Given the description of an element on the screen output the (x, y) to click on. 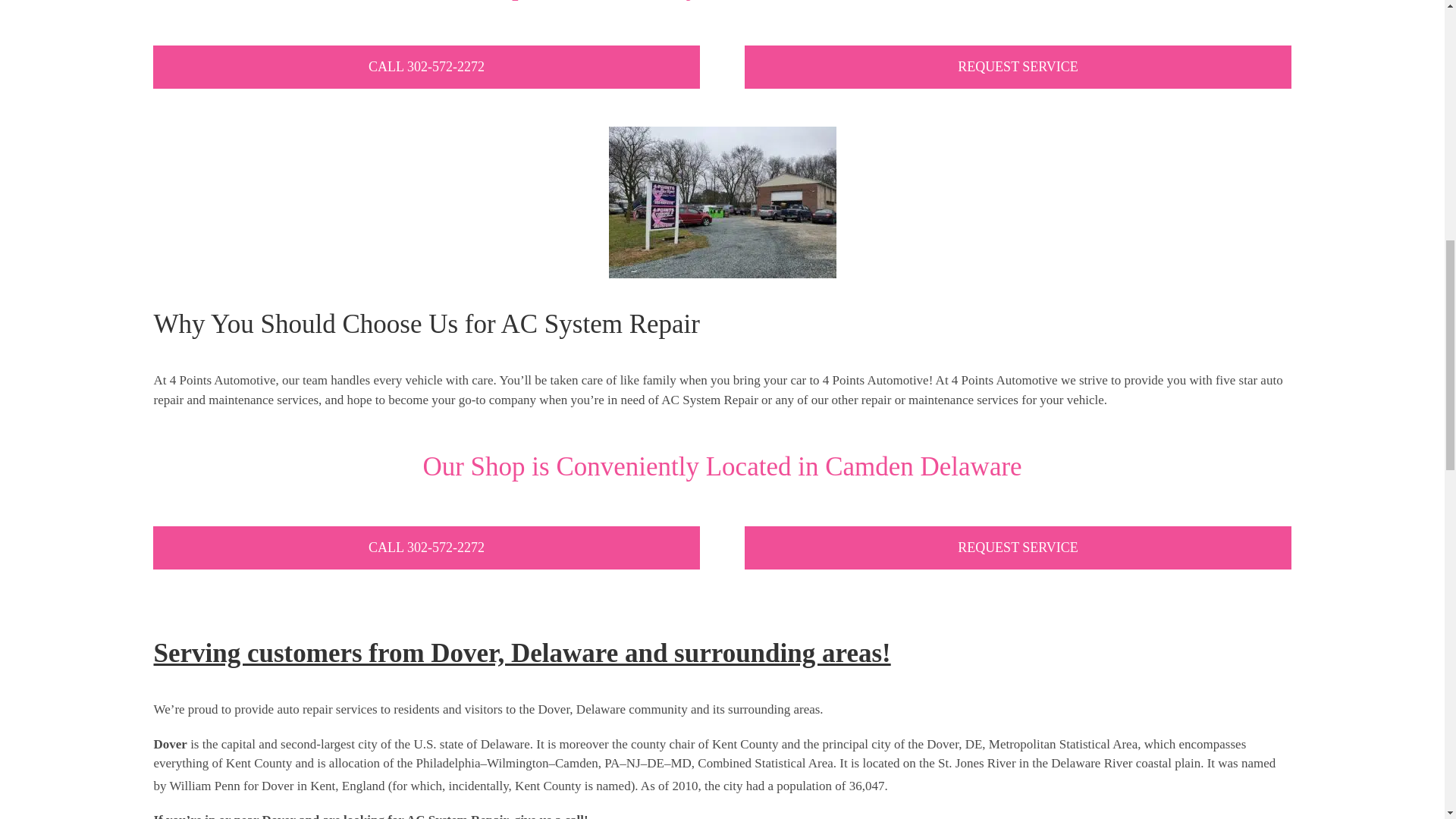
REQUEST SERVICE (1017, 66)
CALL 302-572-2272 (425, 66)
